Given the description of an element on the screen output the (x, y) to click on. 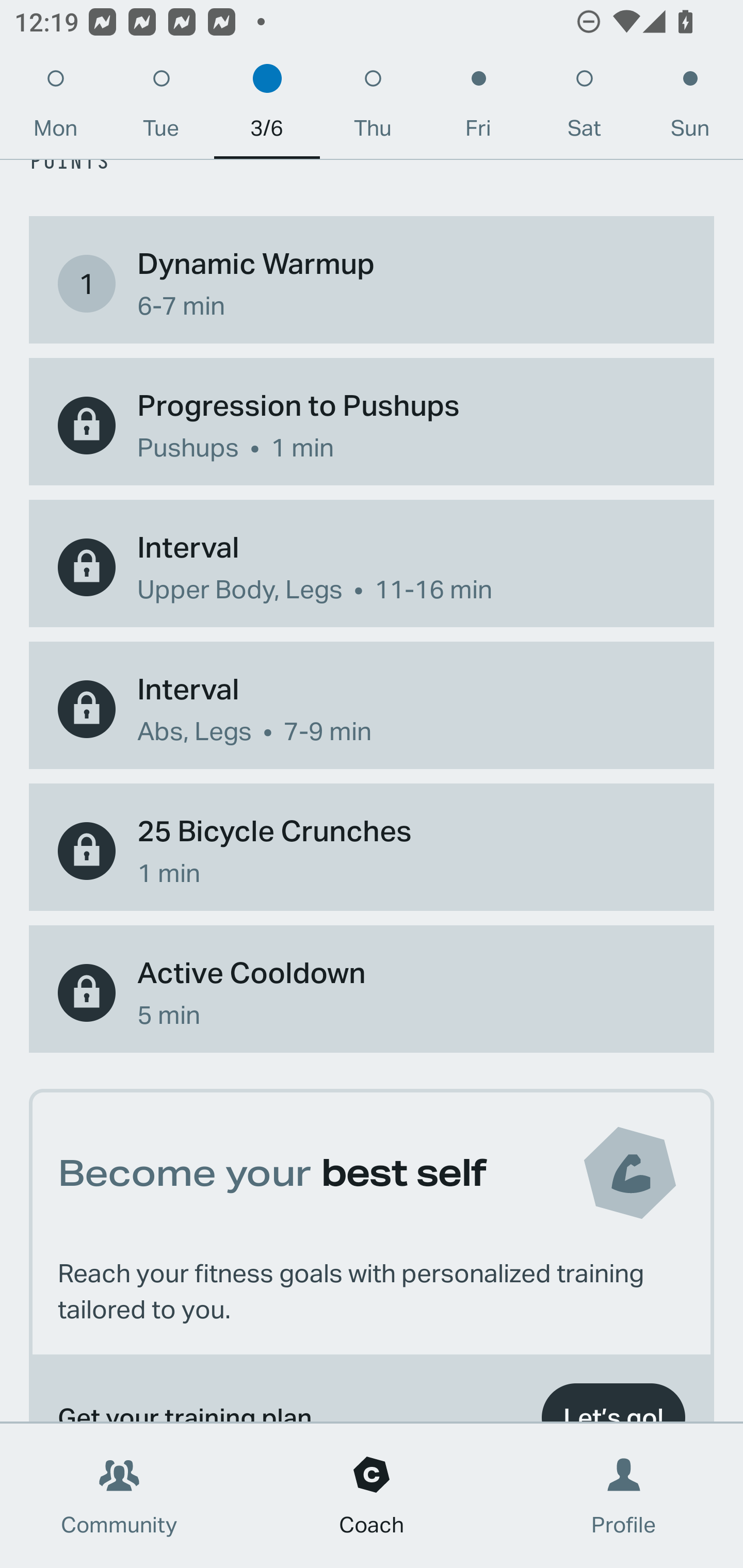
Mon (55, 108)
Tue (160, 108)
3/6 (266, 108)
Thu (372, 108)
Fri (478, 108)
Sat (584, 108)
Sun (690, 108)
1 Dynamic Warmup 6-7 min (371, 283)
Progression to Pushups Pushups  •  1 min (371, 425)
Interval Upper Body, Legs  •  11-16 min (371, 566)
Interval Abs, Legs  •  7-9 min (371, 709)
25 Bicycle Crunches 1 min (371, 850)
Active Cooldown 5 min (371, 993)
Community (119, 1495)
Profile (624, 1495)
